Given the description of an element on the screen output the (x, y) to click on. 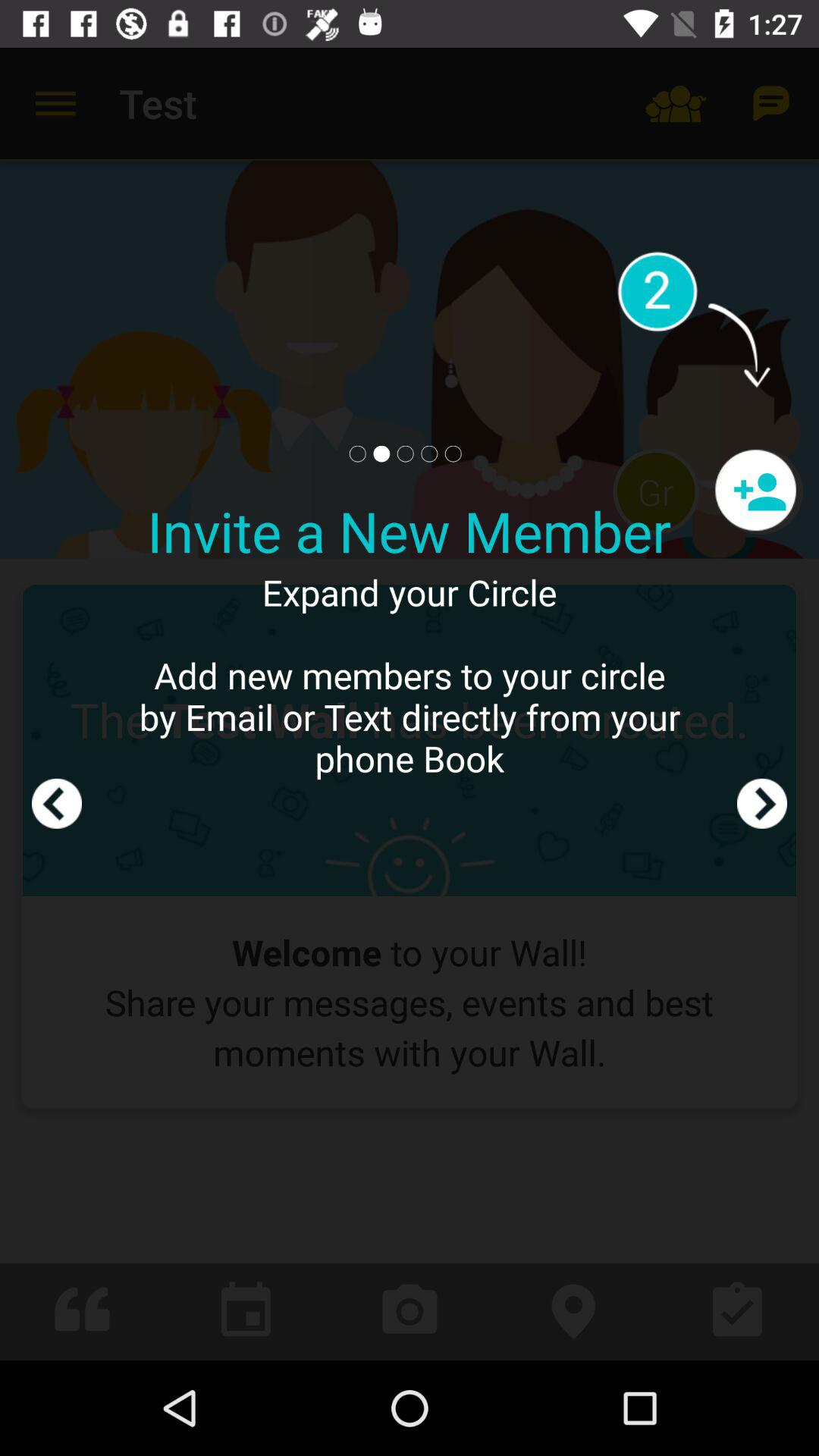
tap item next to the expand your circle (56, 703)
